Given the description of an element on the screen output the (x, y) to click on. 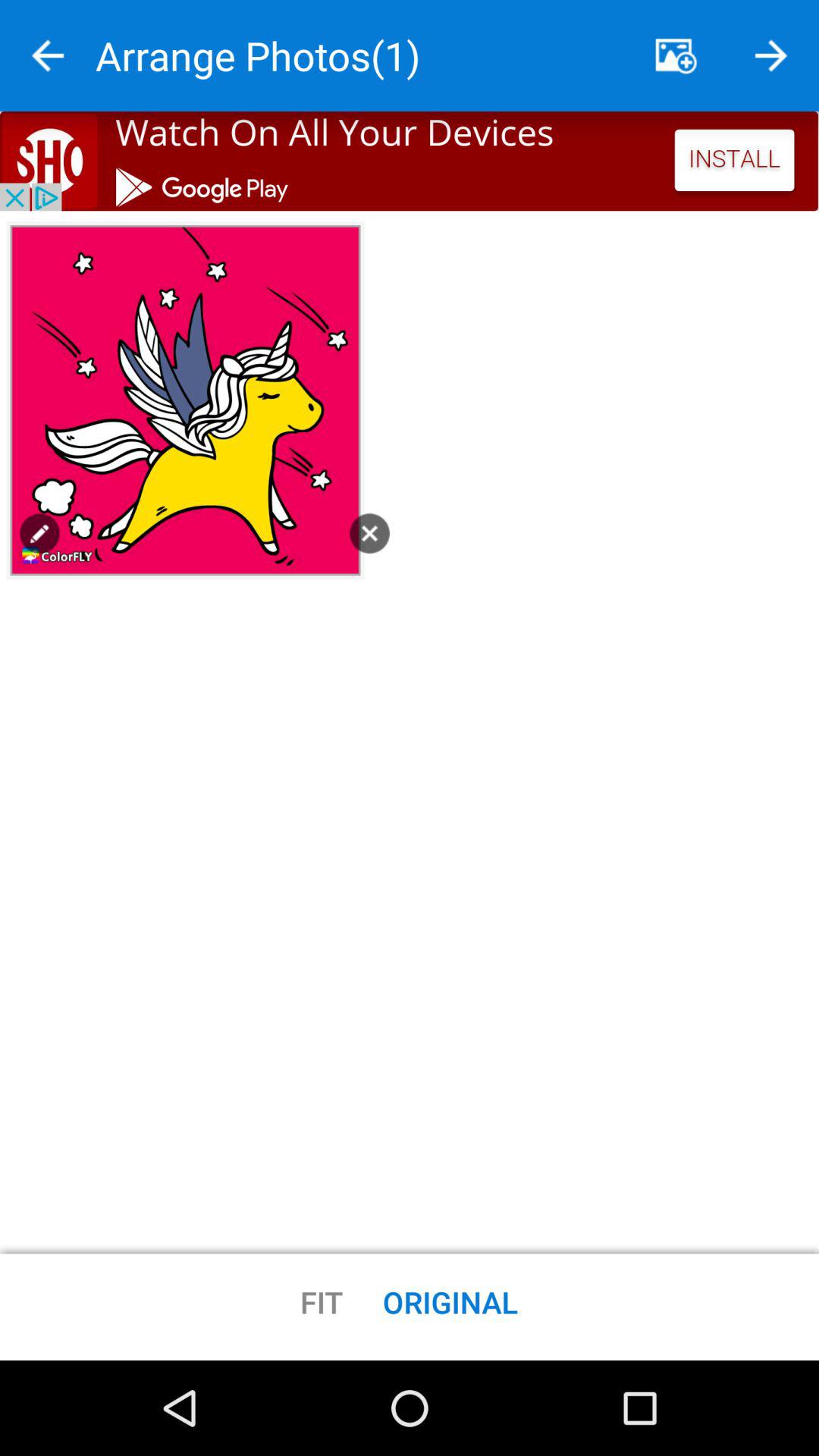
add photos in the app (675, 55)
